Given the description of an element on the screen output the (x, y) to click on. 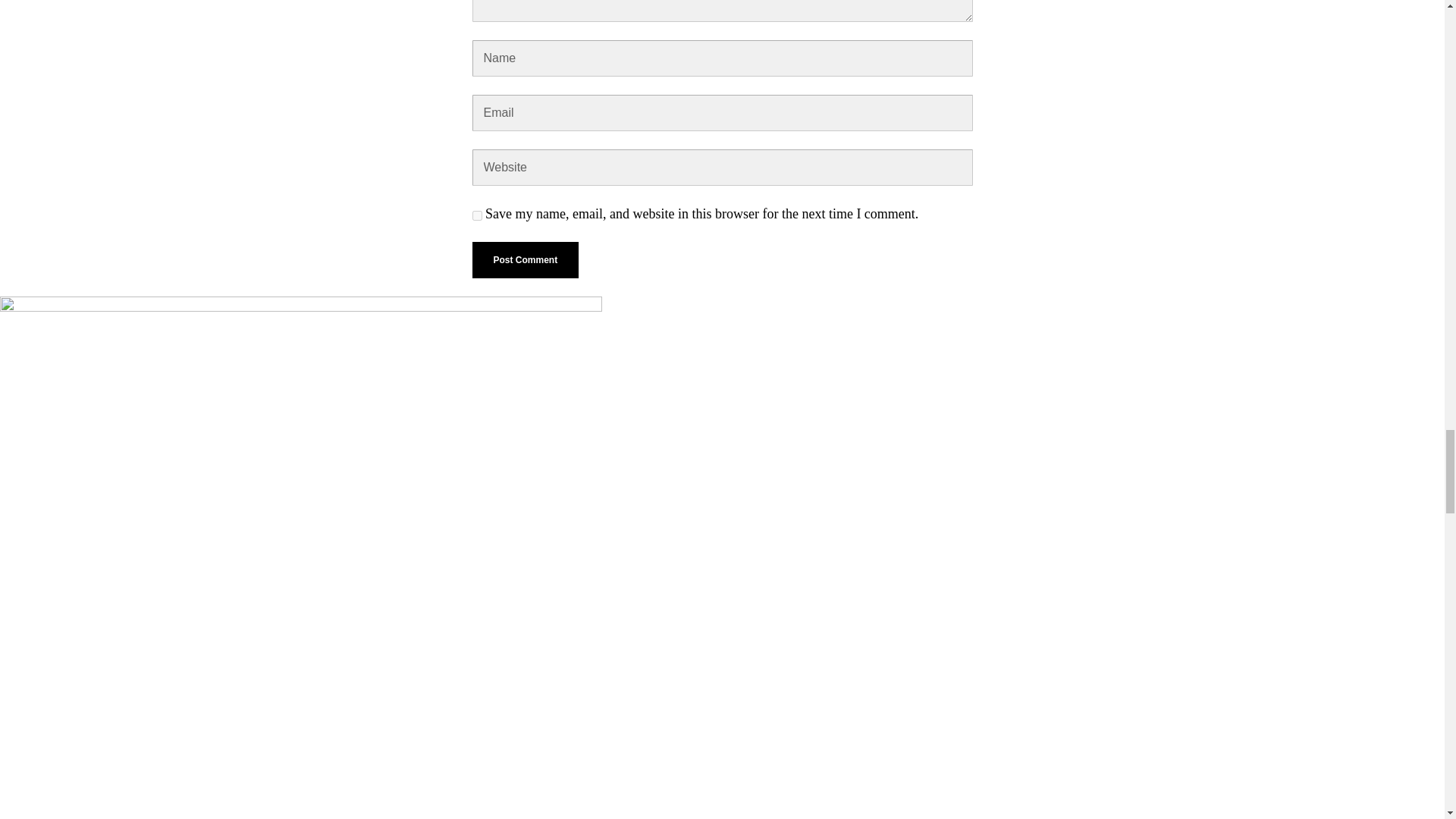
Post Comment (524, 259)
Post Comment (524, 259)
yes (476, 215)
